Given the description of an element on the screen output the (x, y) to click on. 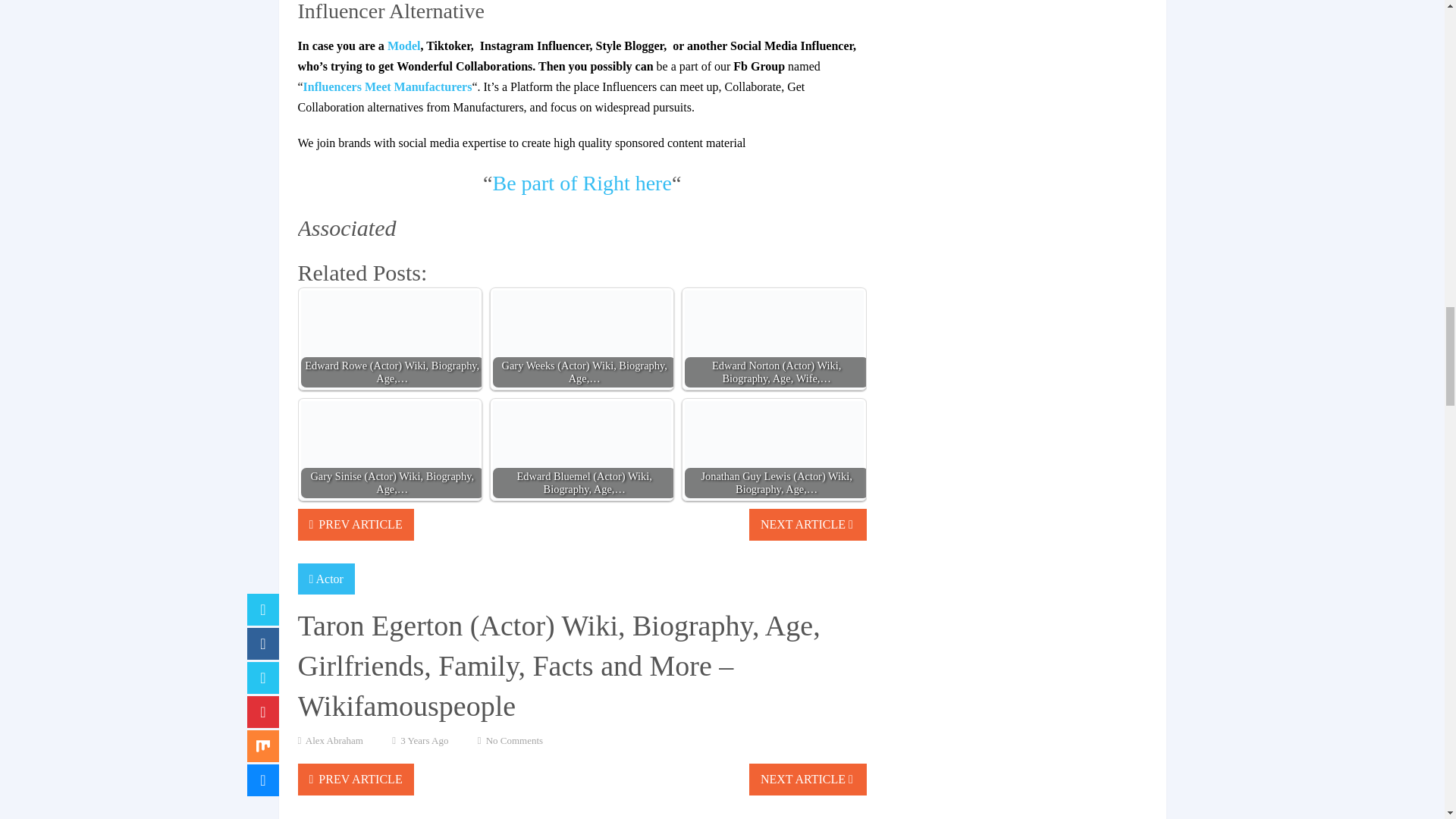
Posts by Alex Abraham (333, 740)
Model (403, 45)
Influencers Meet Manufacturers (386, 86)
View all posts in Actor (328, 578)
Antje Utgaard Wiki (403, 45)
Be part of Right here (582, 182)
